Given the description of an element on the screen output the (x, y) to click on. 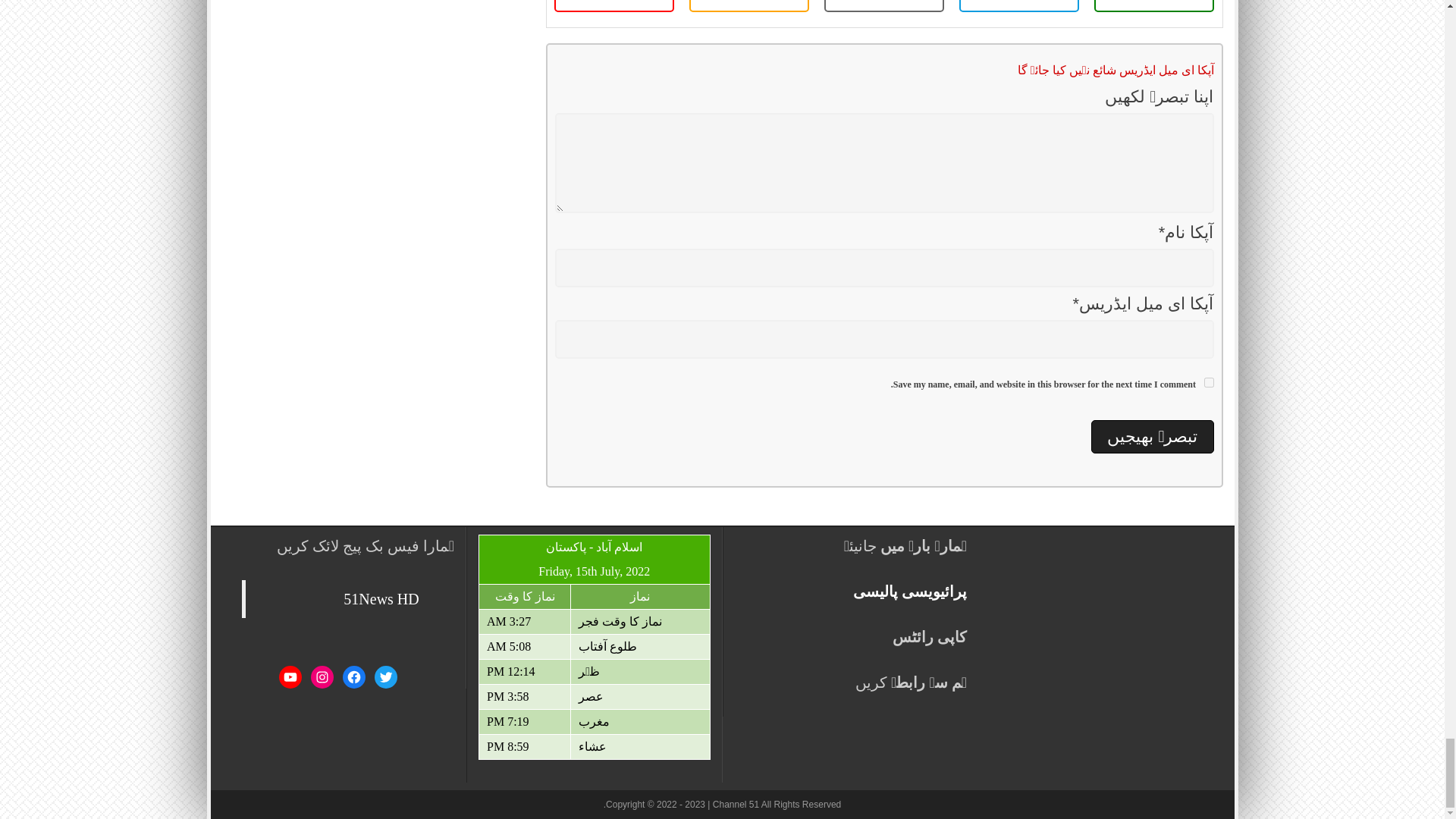
yes (1209, 382)
